Given the description of an element on the screen output the (x, y) to click on. 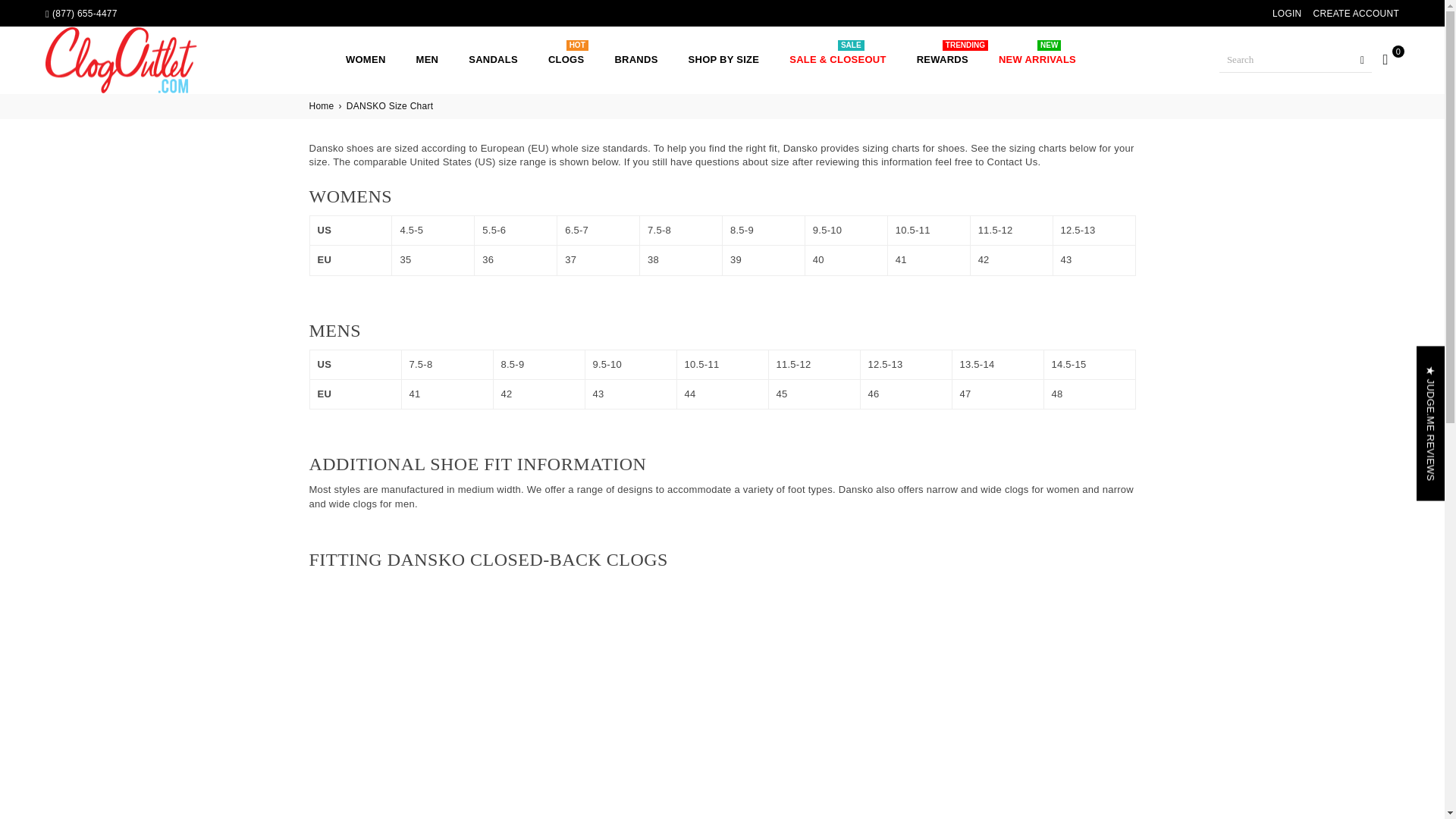
Back to the home page (322, 106)
LOGIN (1286, 13)
Cart (1385, 57)
SANDALS (493, 60)
WOMEN (365, 60)
MEN (426, 60)
CLOGOUTLET.COM (132, 59)
CREATE ACCOUNT (1356, 13)
